Given the description of an element on the screen output the (x, y) to click on. 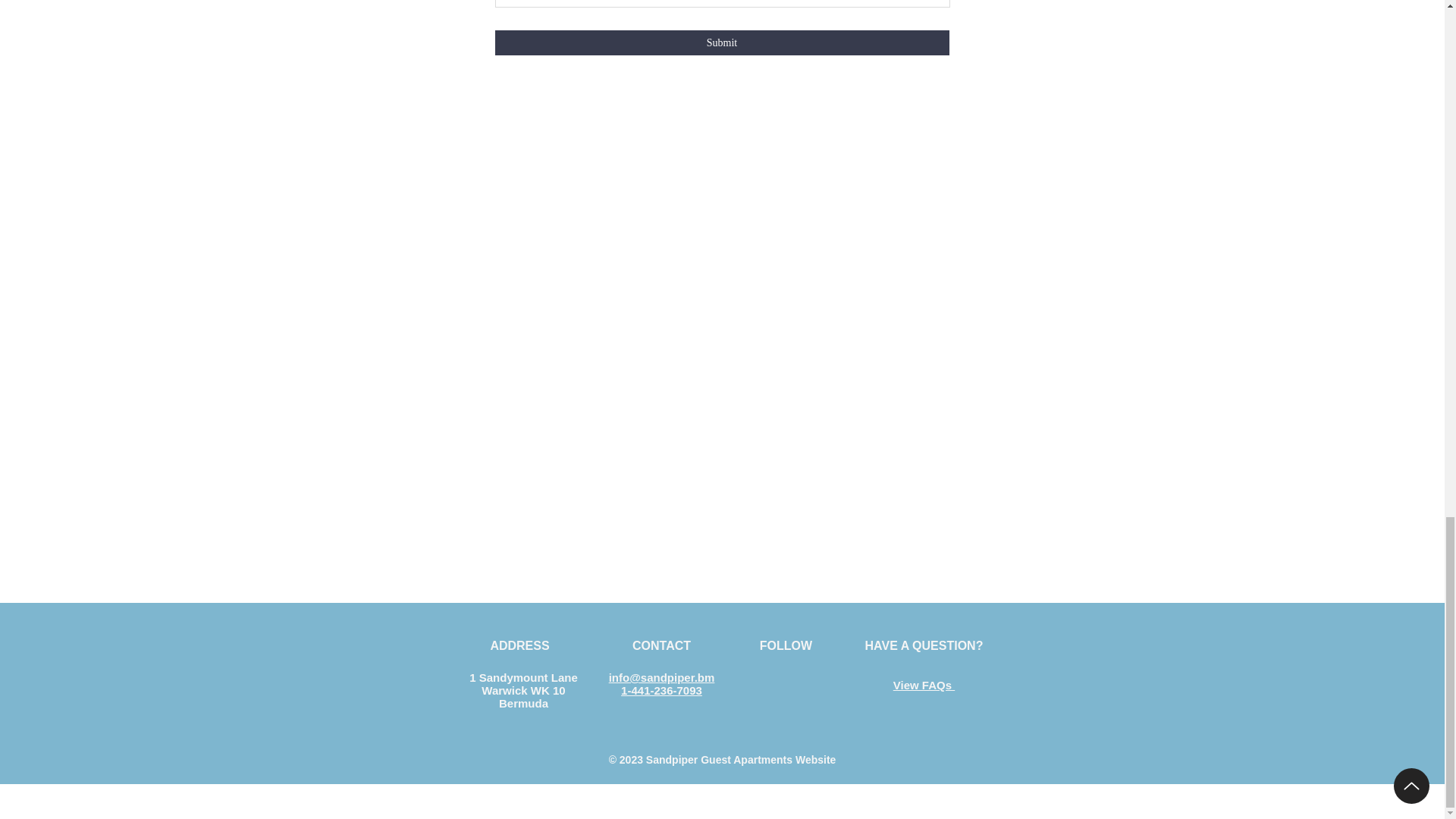
Submit (722, 42)
1-441-236-7093 (661, 689)
View FAQs  (924, 684)
